Given the description of an element on the screen output the (x, y) to click on. 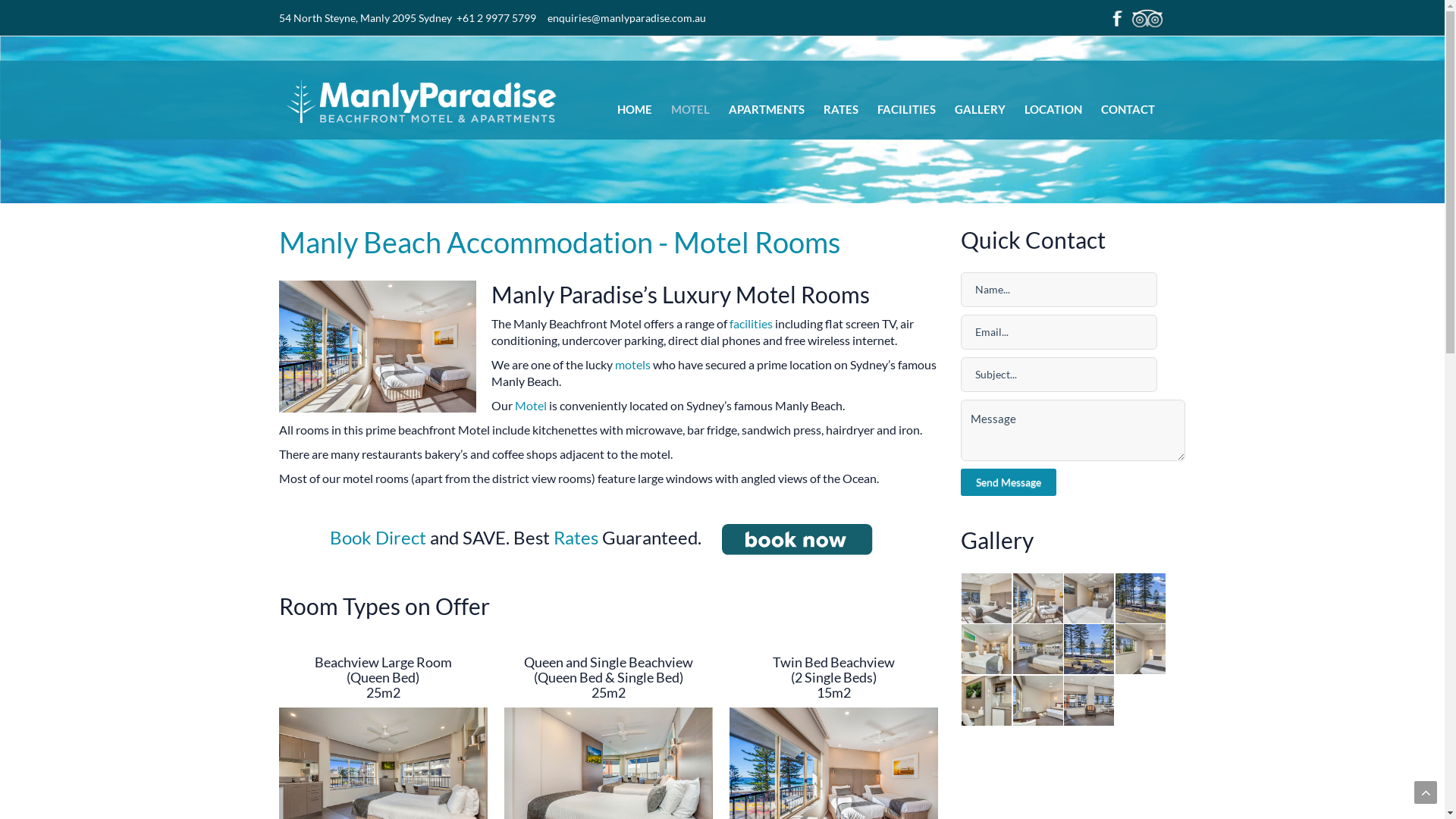
+61 2 9977 5799 Element type: text (496, 17)
facilities Element type: text (750, 323)
RATES Element type: text (840, 109)
MOTEL Element type: text (689, 109)
enquiries@manlyparadise.com.au Element type: text (626, 17)
APARTMENTS Element type: text (765, 109)
LOCATION Element type: text (1052, 109)
GALLERY Element type: text (979, 109)
Rates Element type: text (575, 537)
Book Direct Element type: text (377, 537)
motels Element type: text (632, 364)
CONTACT Element type: text (1127, 109)
Goto Top Element type: hover (1425, 792)
FACILITIES Element type: text (905, 109)
HOME Element type: text (634, 109)
Motel Element type: text (530, 405)
Send Message Element type: text (1008, 481)
Manly Beach Accommodation - Motel Rooms Element type: text (559, 241)
